Given the description of an element on the screen output the (x, y) to click on. 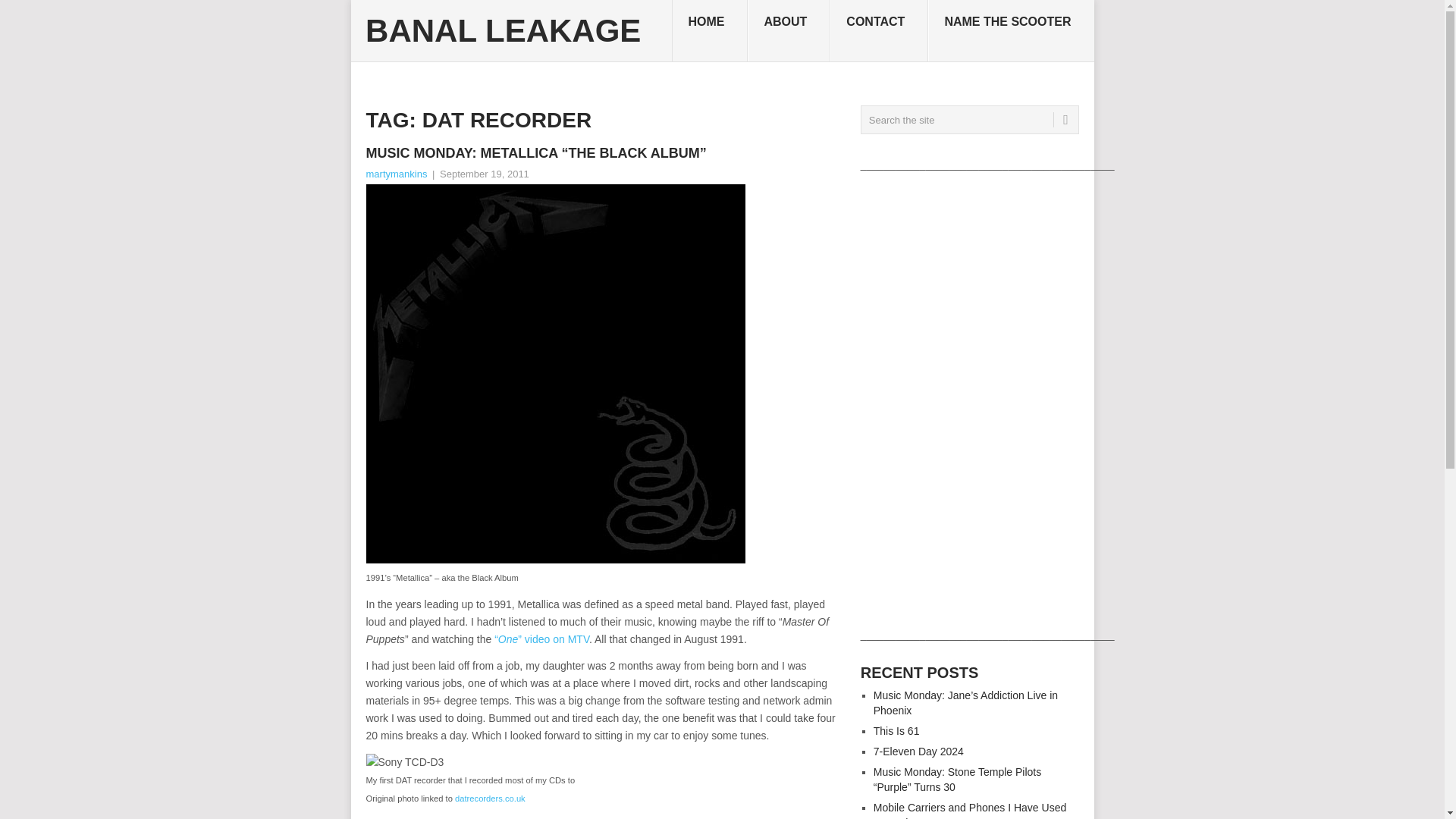
HOME (709, 31)
7-Eleven Day 2024 (918, 751)
This Is 61 (896, 730)
martymankins (395, 173)
datrecorders.co.uk (489, 798)
NAME THE SCOOTER (1010, 31)
Metallica One (542, 639)
CONTACT (878, 31)
datrecorders.co.uk (489, 798)
Mobile Carriers and Phones I Have Used Over The Years (969, 810)
